Given the description of an element on the screen output the (x, y) to click on. 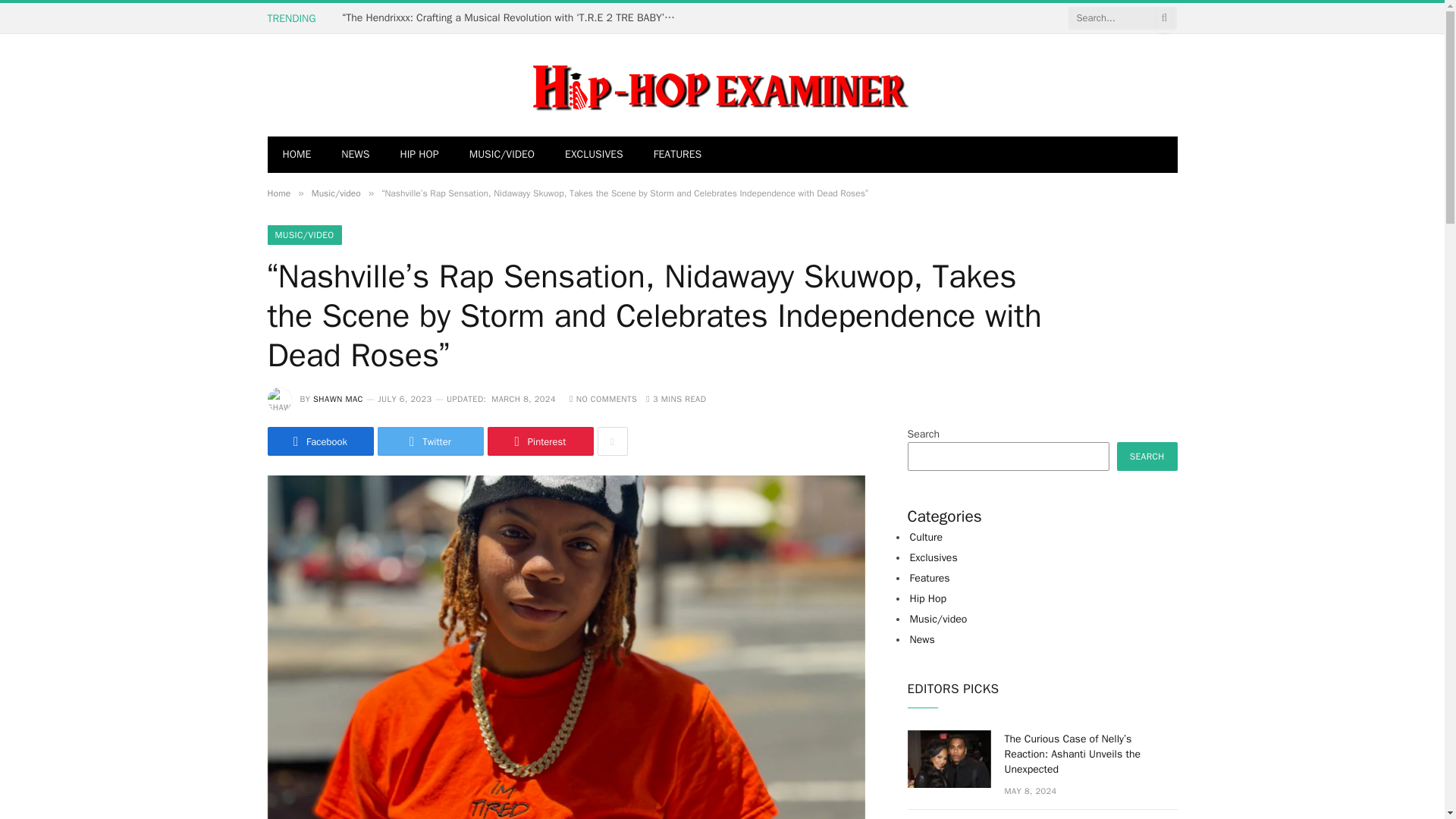
Pinterest (539, 440)
HIP HOP (418, 154)
Share on Pinterest (539, 440)
SHAWN MAC (337, 398)
Show More Social Sharing (611, 440)
HipHopExaminer (587, 85)
Twitter (430, 440)
NEWS (355, 154)
Share on Facebook (319, 440)
Home (277, 193)
Posts by Shawn Mac (337, 398)
FEATURES (678, 154)
HOME (296, 154)
NO COMMENTS (603, 398)
EXCLUSIVES (594, 154)
